Given the description of an element on the screen output the (x, y) to click on. 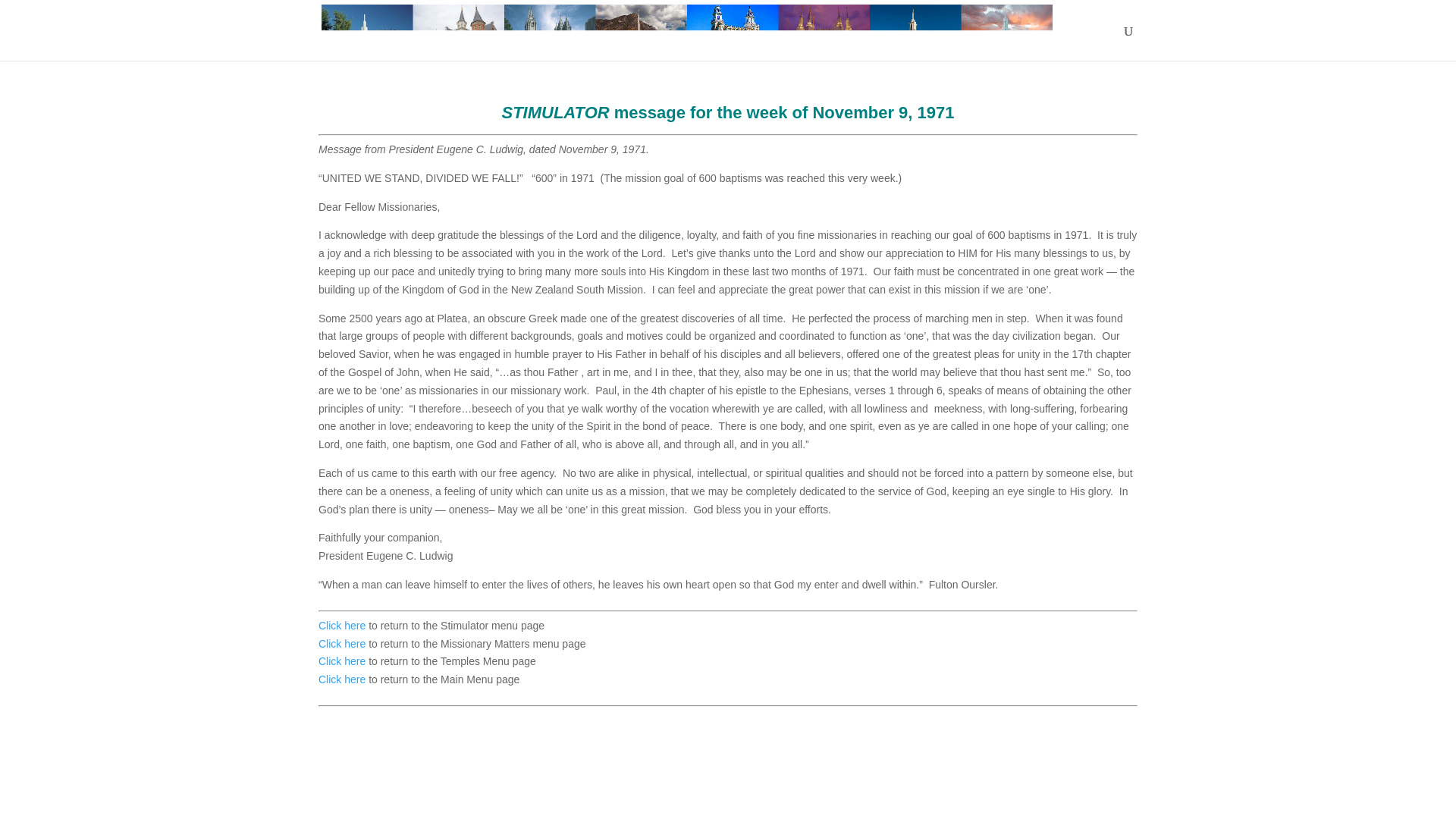
Click here (341, 679)
Click here (341, 625)
Click here (341, 644)
Click here (341, 661)
